Given the description of an element on the screen output the (x, y) to click on. 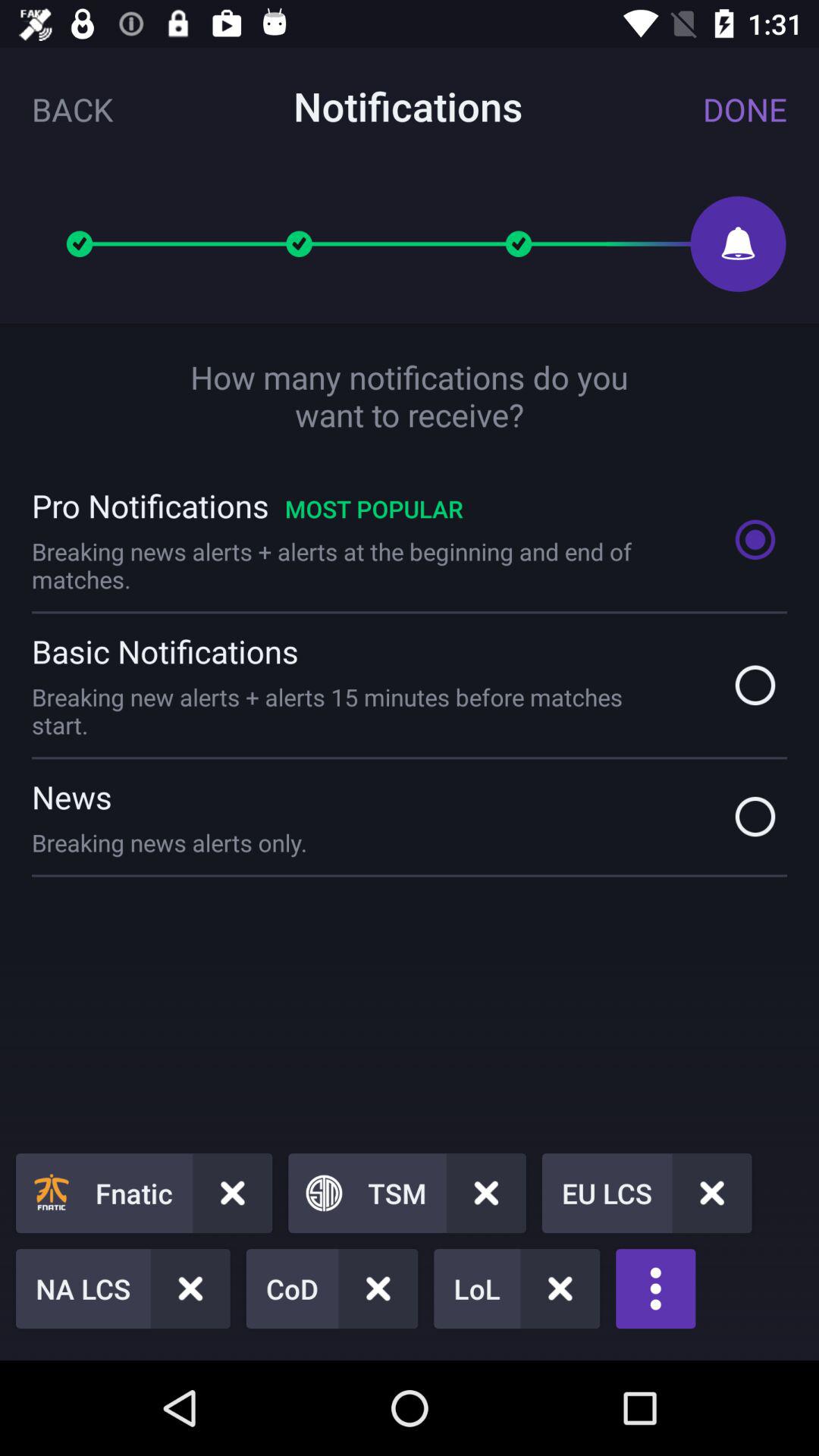
tap icon next to the notifications item (72, 108)
